Given the description of an element on the screen output the (x, y) to click on. 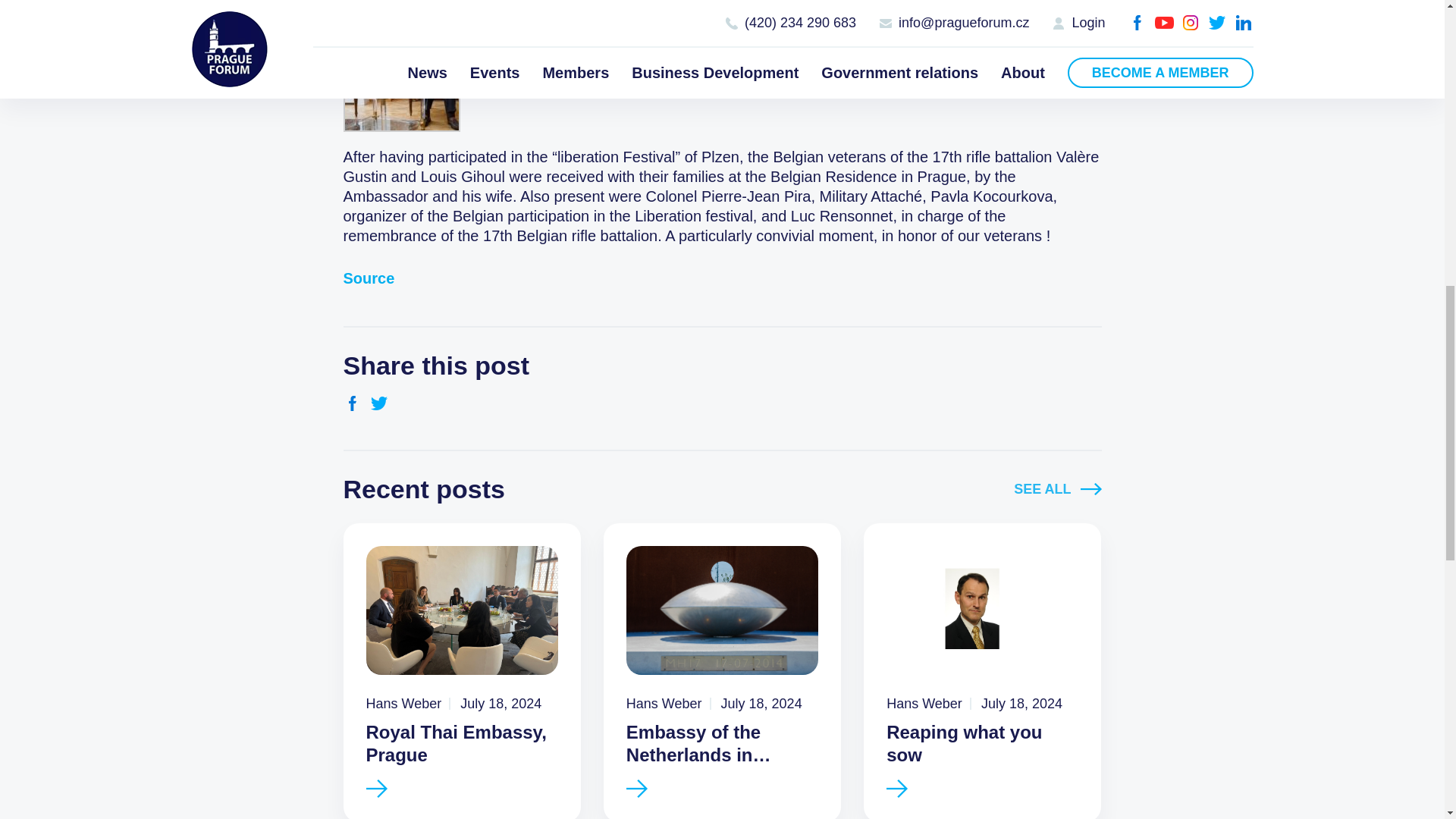
Facebook (351, 403)
Twitter (378, 403)
Source (368, 278)
SEE ALL (1056, 489)
